Given the description of an element on the screen output the (x, y) to click on. 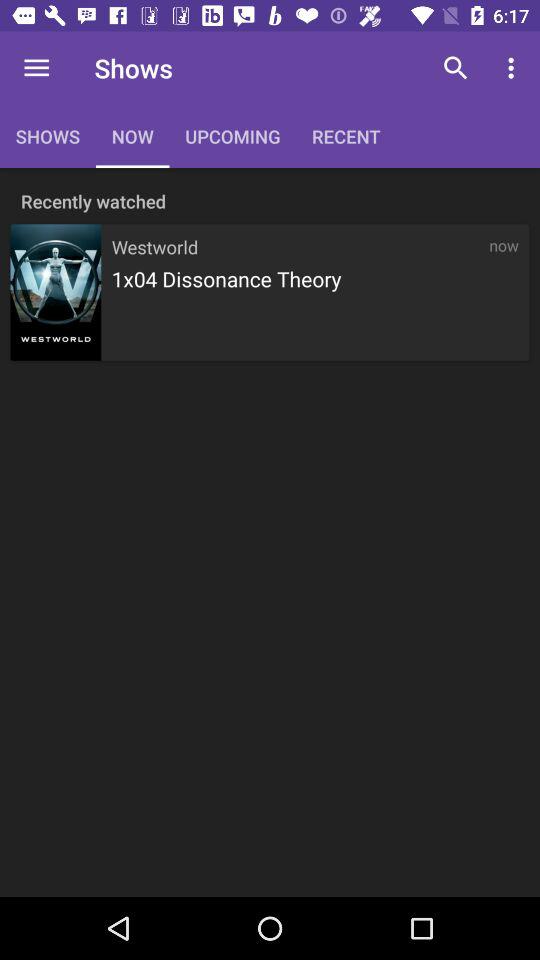
click the item next to shows (36, 68)
